Given the description of an element on the screen output the (x, y) to click on. 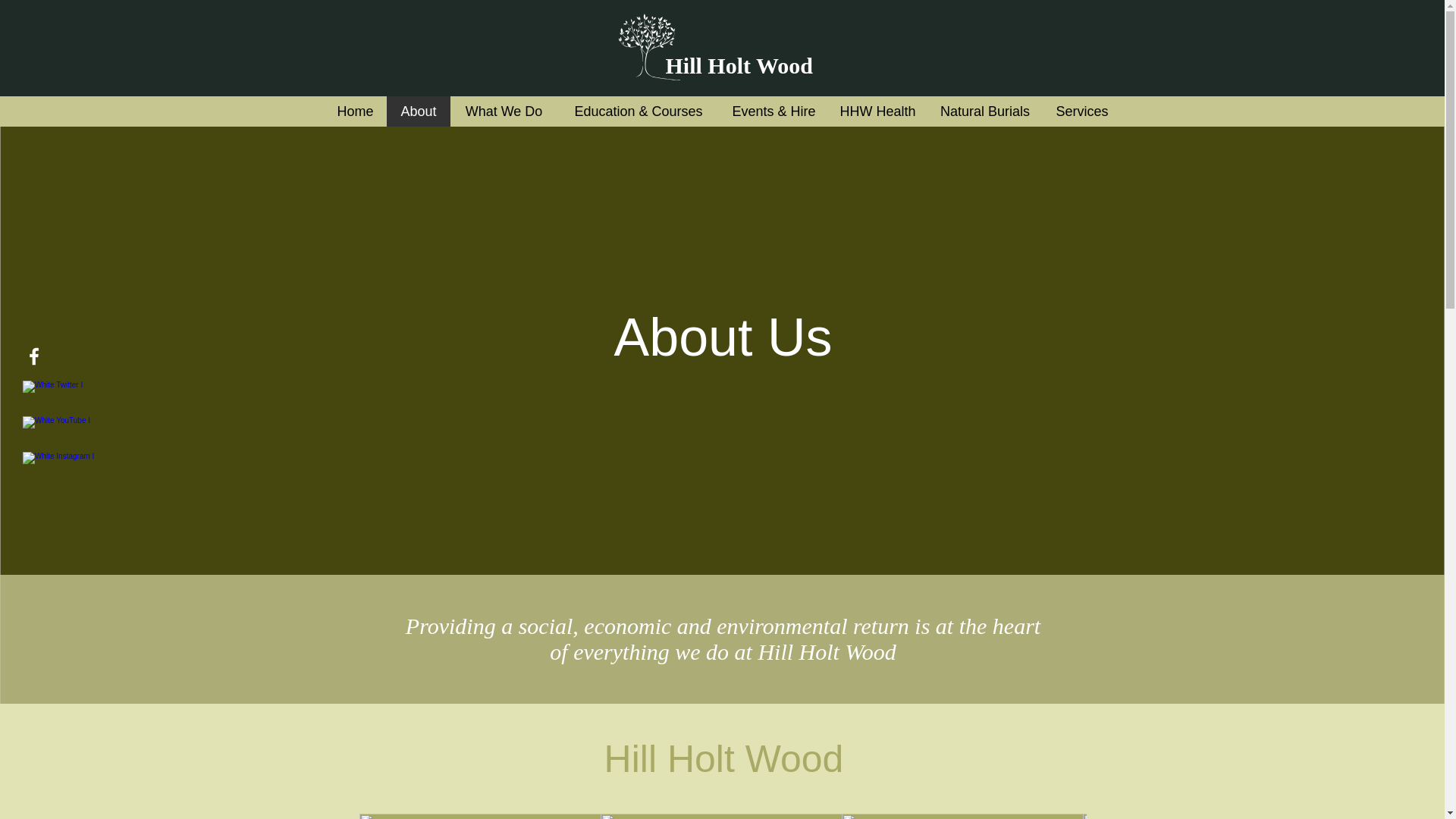
What We Do (503, 111)
About (418, 111)
Home (354, 111)
Hill Holt Wood (743, 65)
